Given the description of an element on the screen output the (x, y) to click on. 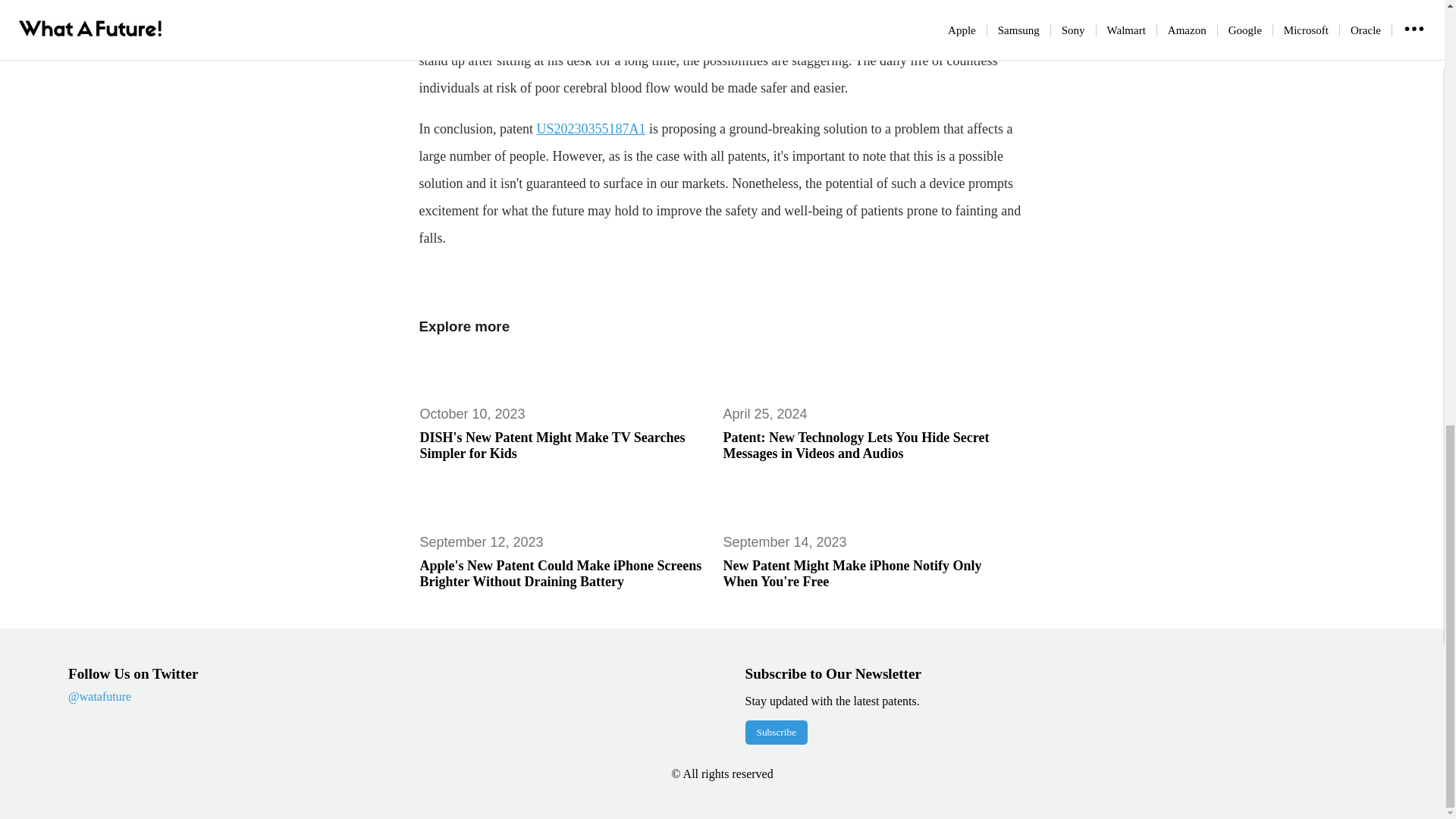
US20230355187A1 (590, 128)
